Given the description of an element on the screen output the (x, y) to click on. 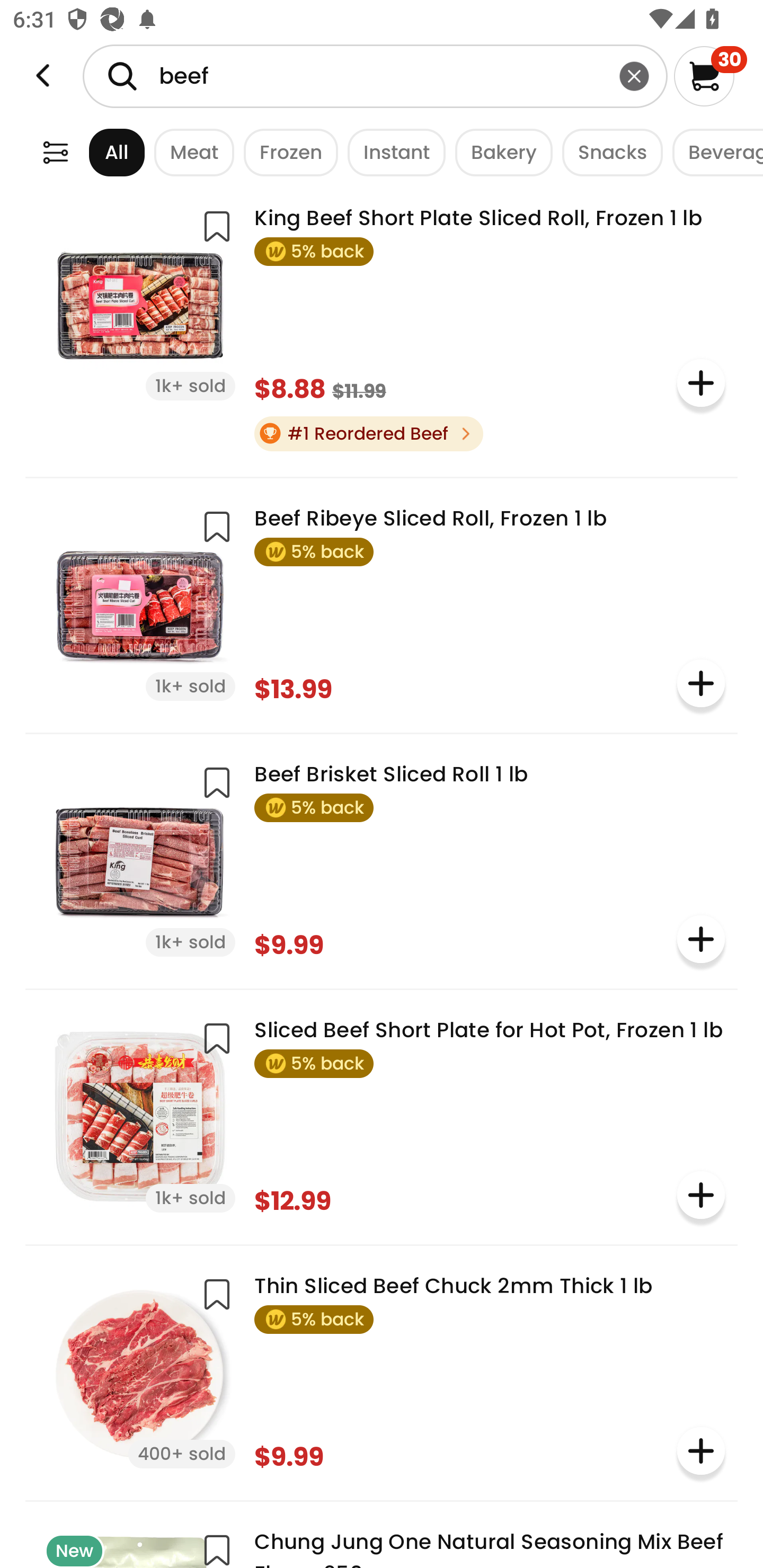
beef (374, 75)
30 (709, 75)
Weee! (42, 76)
Weee! (55, 151)
All (99, 151)
Meat (189, 151)
Frozen (286, 151)
Instant (391, 151)
Bakery (498, 151)
Snacks (607, 151)
Beverages (713, 151)
